Given the description of an element on the screen output the (x, y) to click on. 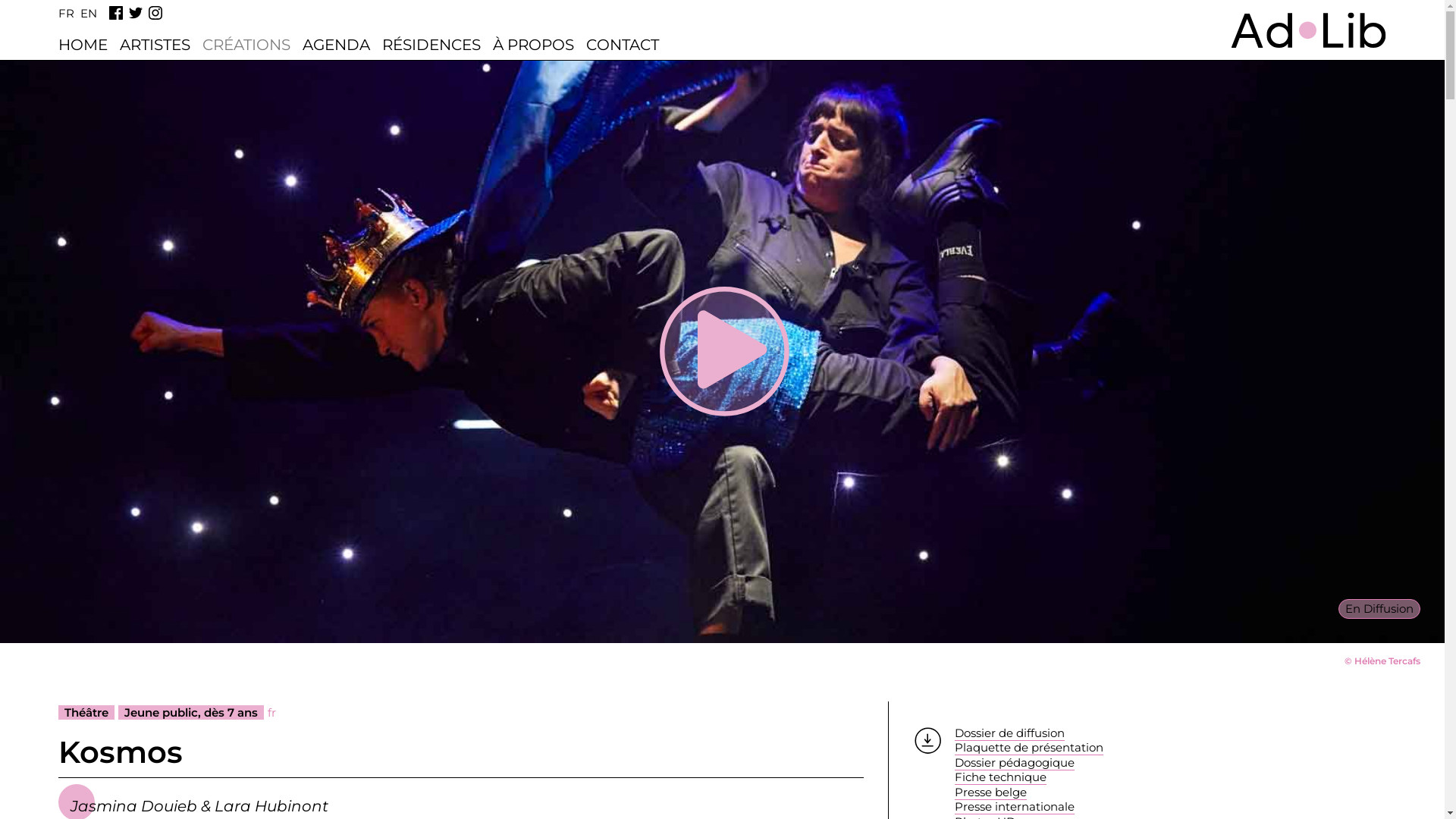
ARTISTES Element type: text (154, 44)
Presse internationale Element type: text (1014, 806)
Dossier de diffusion Element type: text (1009, 732)
HOME Element type: text (82, 44)
EN Element type: text (88, 13)
FR Element type: text (66, 13)
Instagram Element type: hover (155, 12)
Fiche technique Element type: text (1000, 776)
AGENDA Element type: text (336, 44)
Twitter Element type: hover (135, 12)
Facebook Element type: hover (115, 12)
Presse belge Element type: text (990, 792)
CONTACT Element type: text (622, 44)
